Given the description of an element on the screen output the (x, y) to click on. 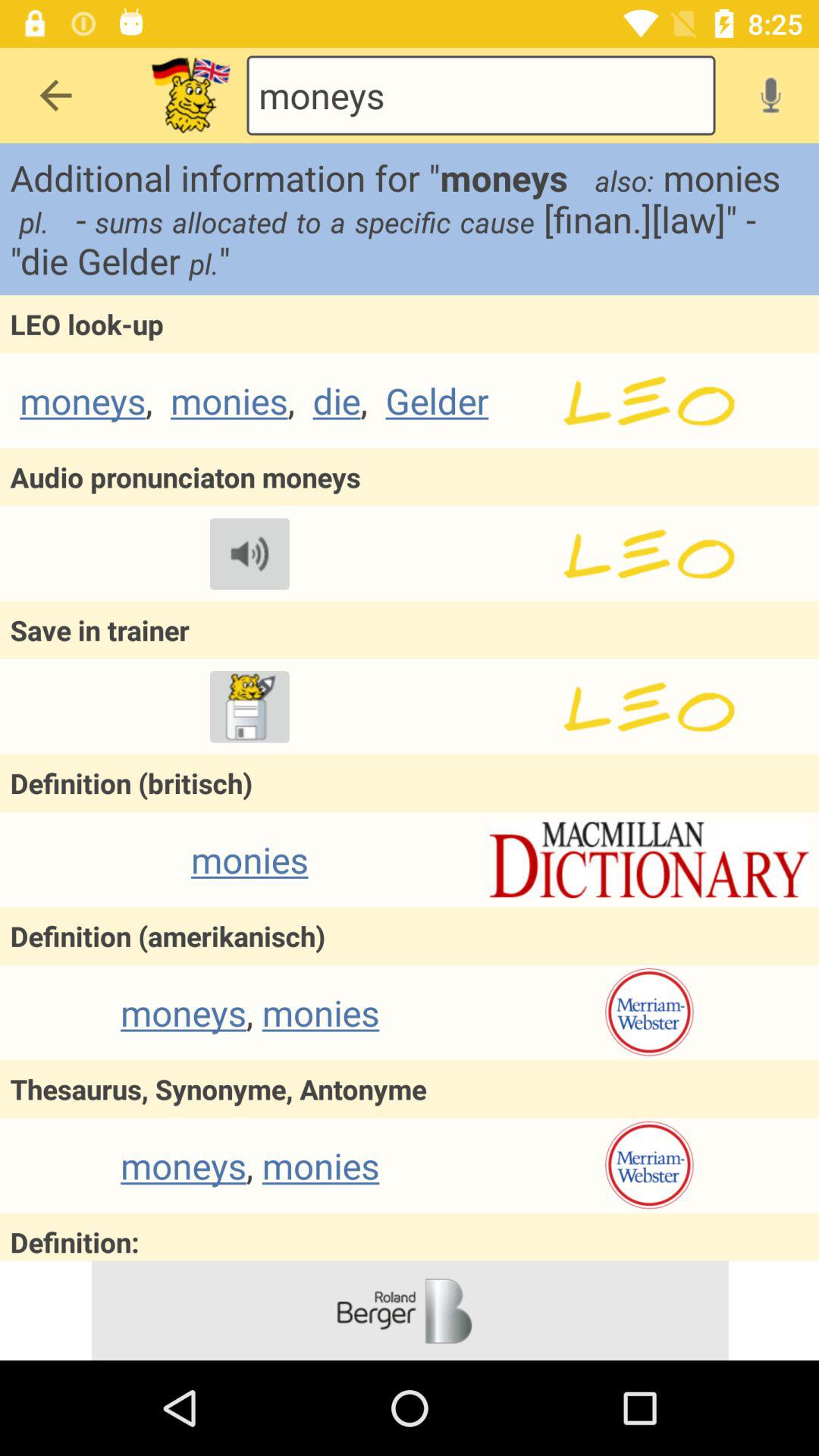
go to dictionary (648, 1165)
